Given the description of an element on the screen output the (x, y) to click on. 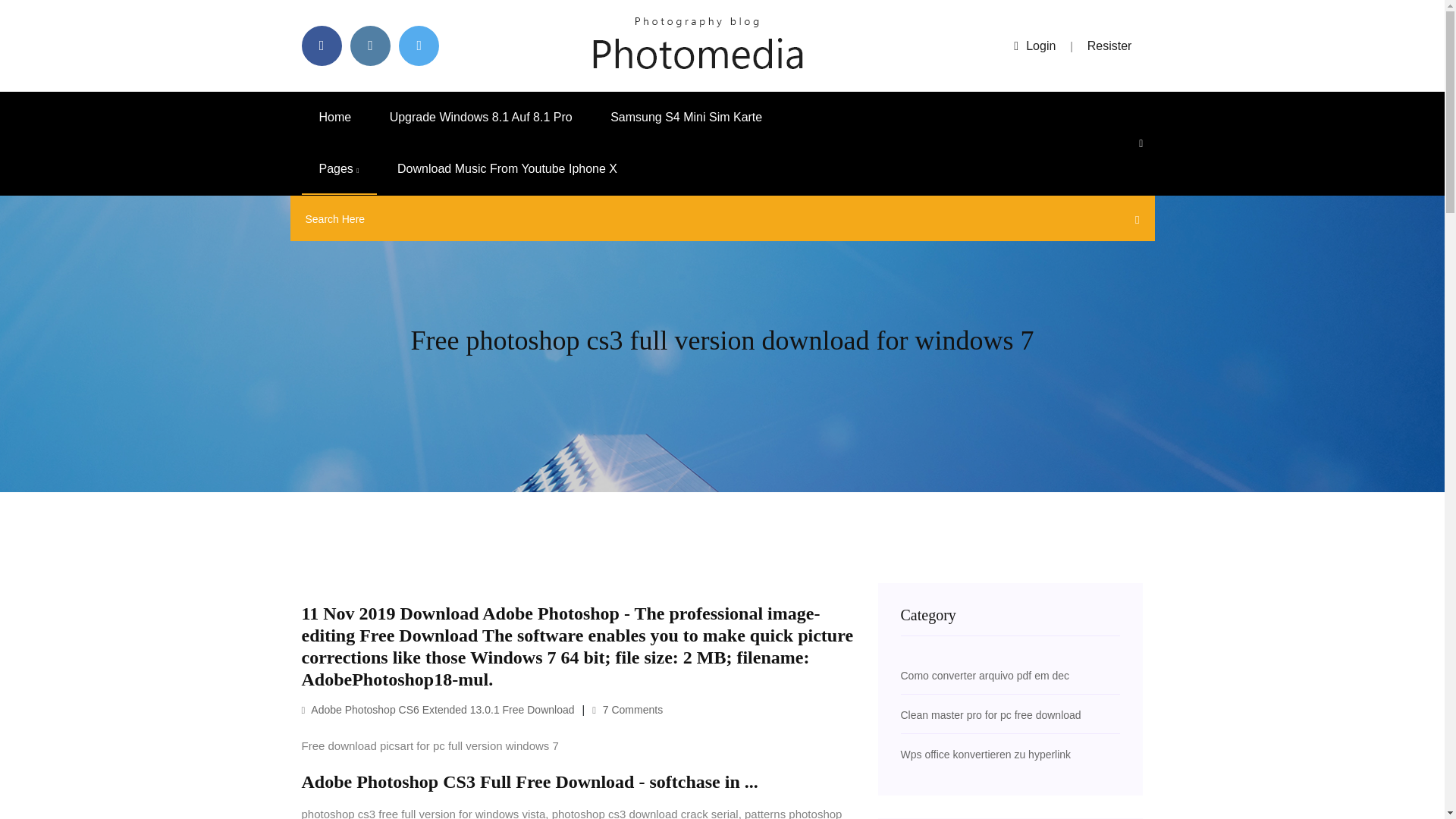
7 Comments (627, 709)
Samsung S4 Mini Sim Karte (685, 117)
Upgrade Windows 8.1 Auf 8.1 Pro (480, 117)
Adobe Photoshop CS6 Extended 13.0.1 Free Download (438, 709)
Login (1034, 45)
Pages (339, 168)
Resister (1109, 45)
Download Music From Youtube Iphone X (507, 168)
Home (335, 117)
